Given the description of an element on the screen output the (x, y) to click on. 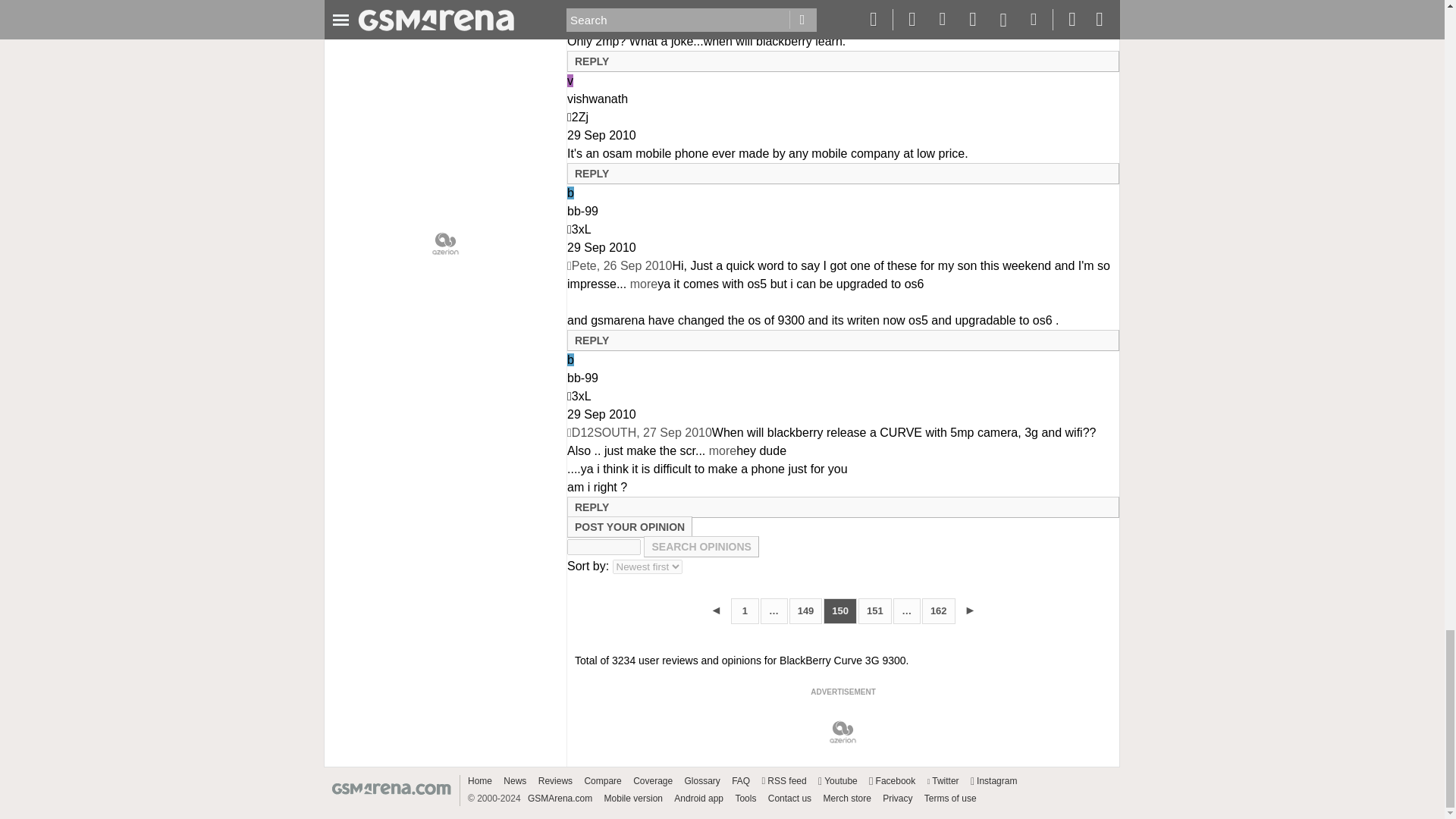
Search opinions (700, 546)
